Given the description of an element on the screen output the (x, y) to click on. 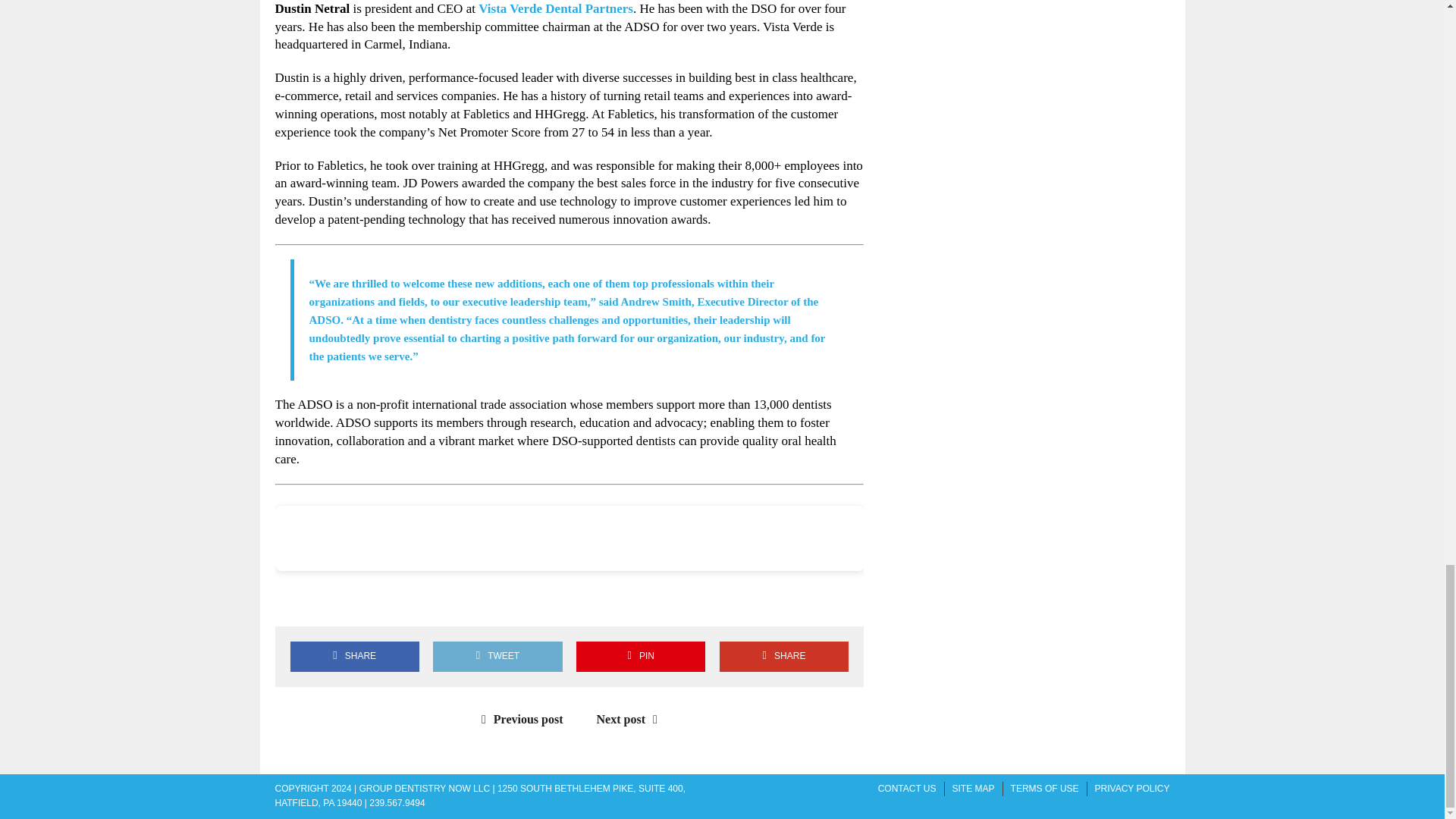
Share on Facebook (354, 655)
Tweet This Post (497, 655)
Share on Twitter (336, 600)
Share on Facebook (293, 600)
Share by email (424, 600)
Share on Linkedin (380, 600)
